Given the description of an element on the screen output the (x, y) to click on. 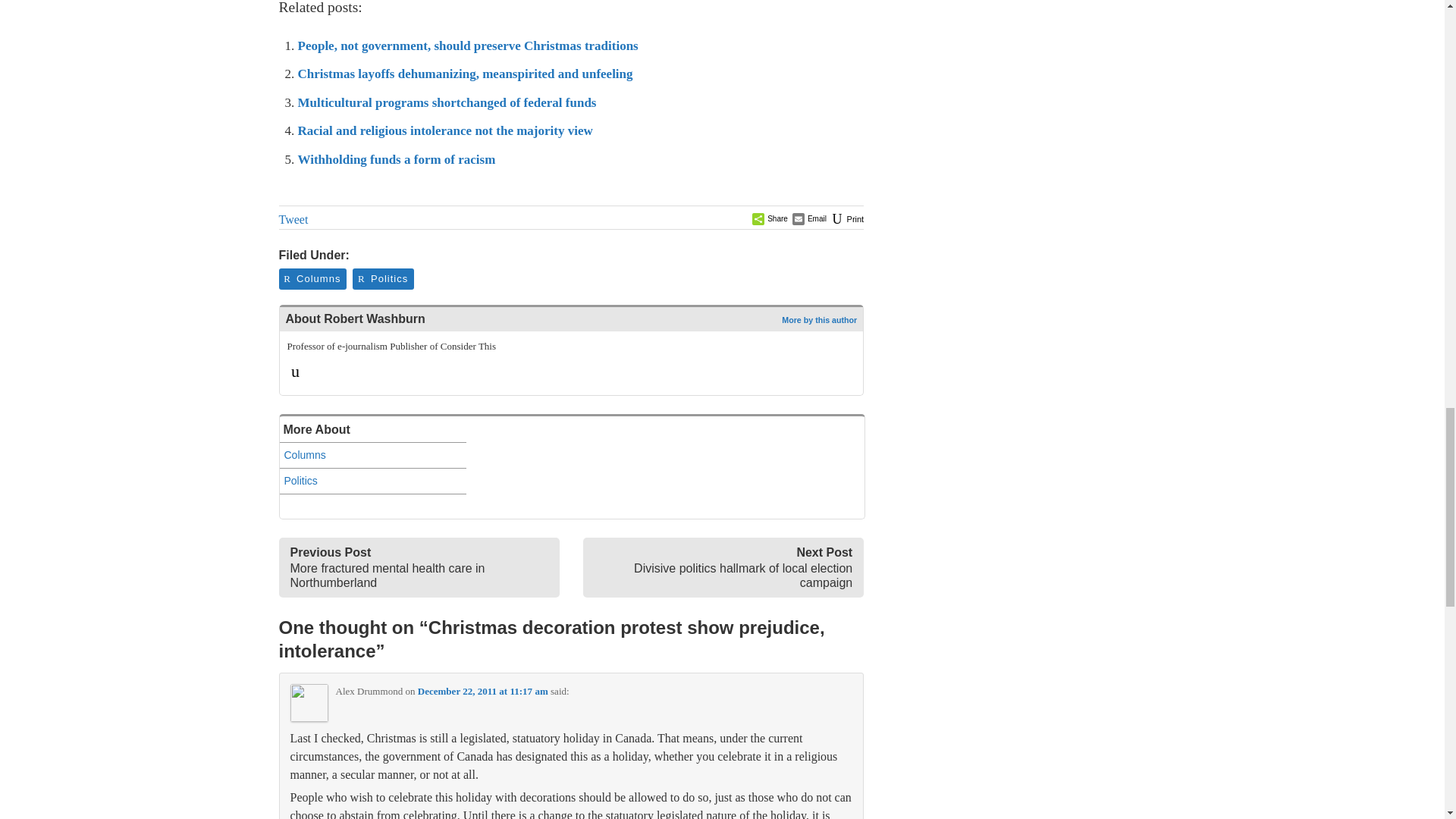
Columns (372, 454)
print this article (845, 218)
Christmas layoffs dehumanizing, meanspirited and unfeeling (464, 73)
Racial and religious intolerance not the majority view (444, 130)
Politics (372, 480)
More by this author (819, 319)
People, not government, should preserve Christmas traditions (467, 45)
See all posts by Robert Washburn (819, 319)
Withholding funds a form of racism (396, 159)
e-mail Robert Washburn (295, 370)
